Given the description of an element on the screen output the (x, y) to click on. 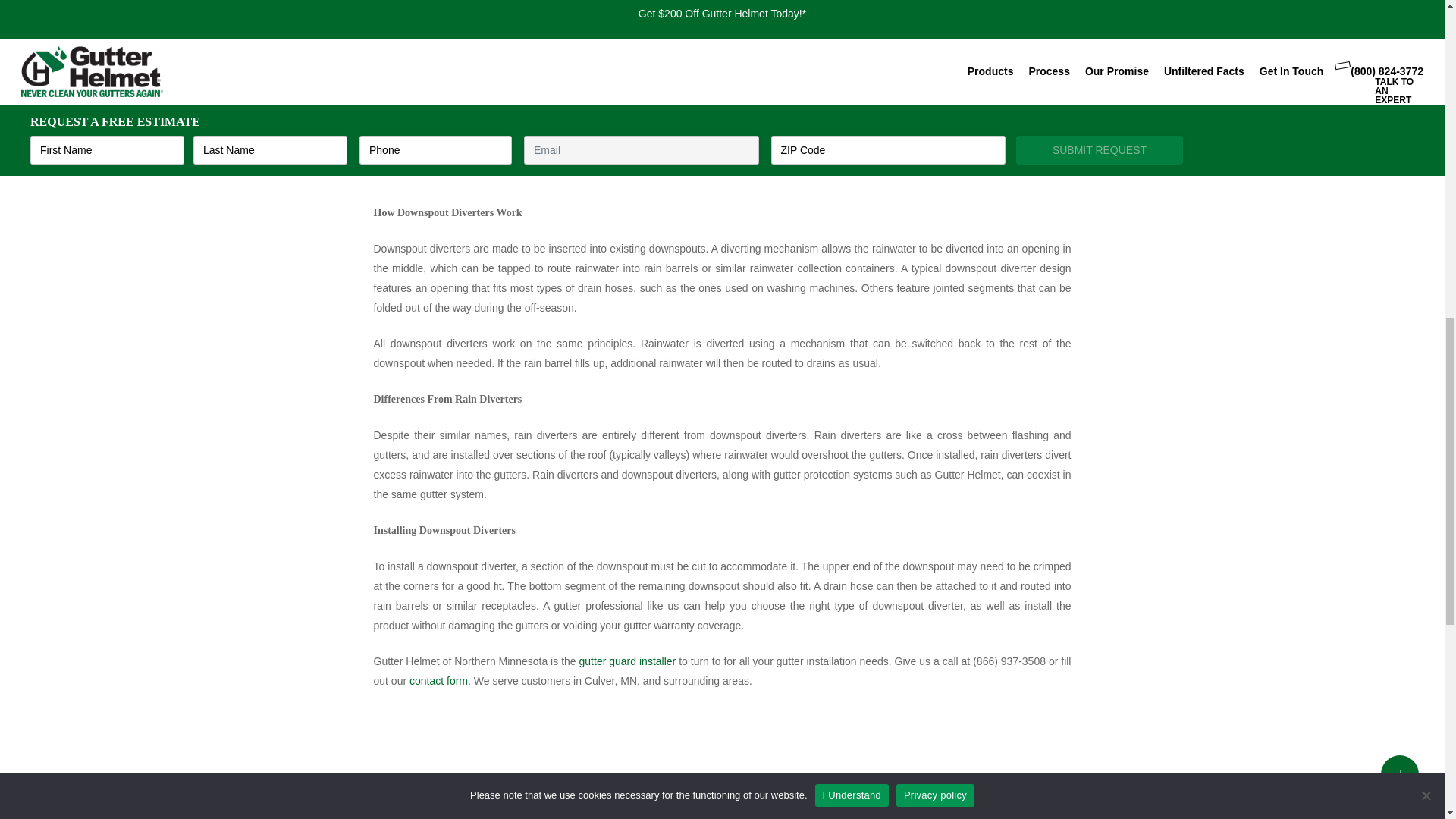
contact form (438, 680)
gutter guard installer (628, 661)
admin (482, 804)
